Given the description of an element on the screen output the (x, y) to click on. 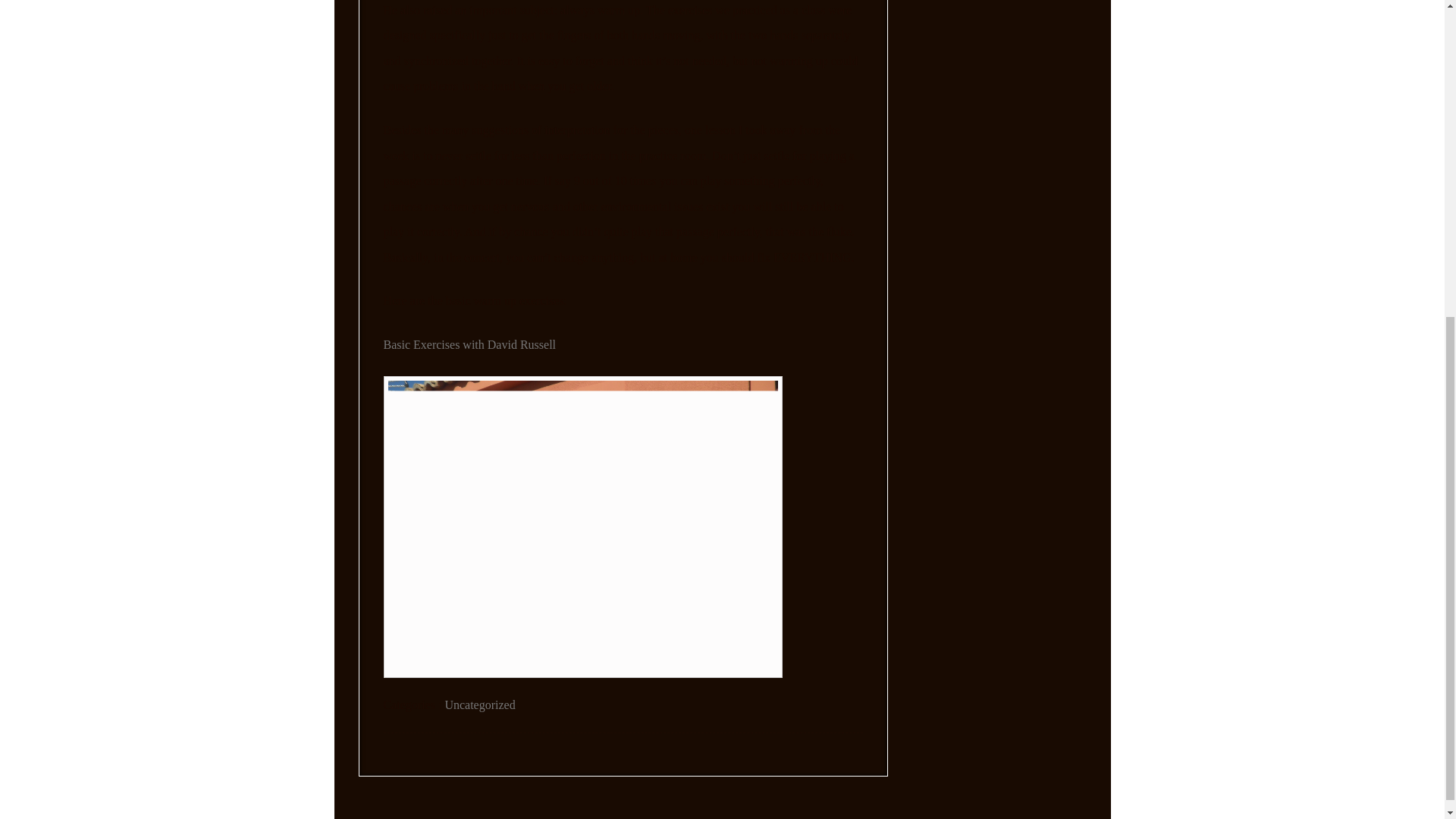
Basic Exercises with David Russell (470, 344)
Uncategorized (479, 704)
